Given the description of an element on the screen output the (x, y) to click on. 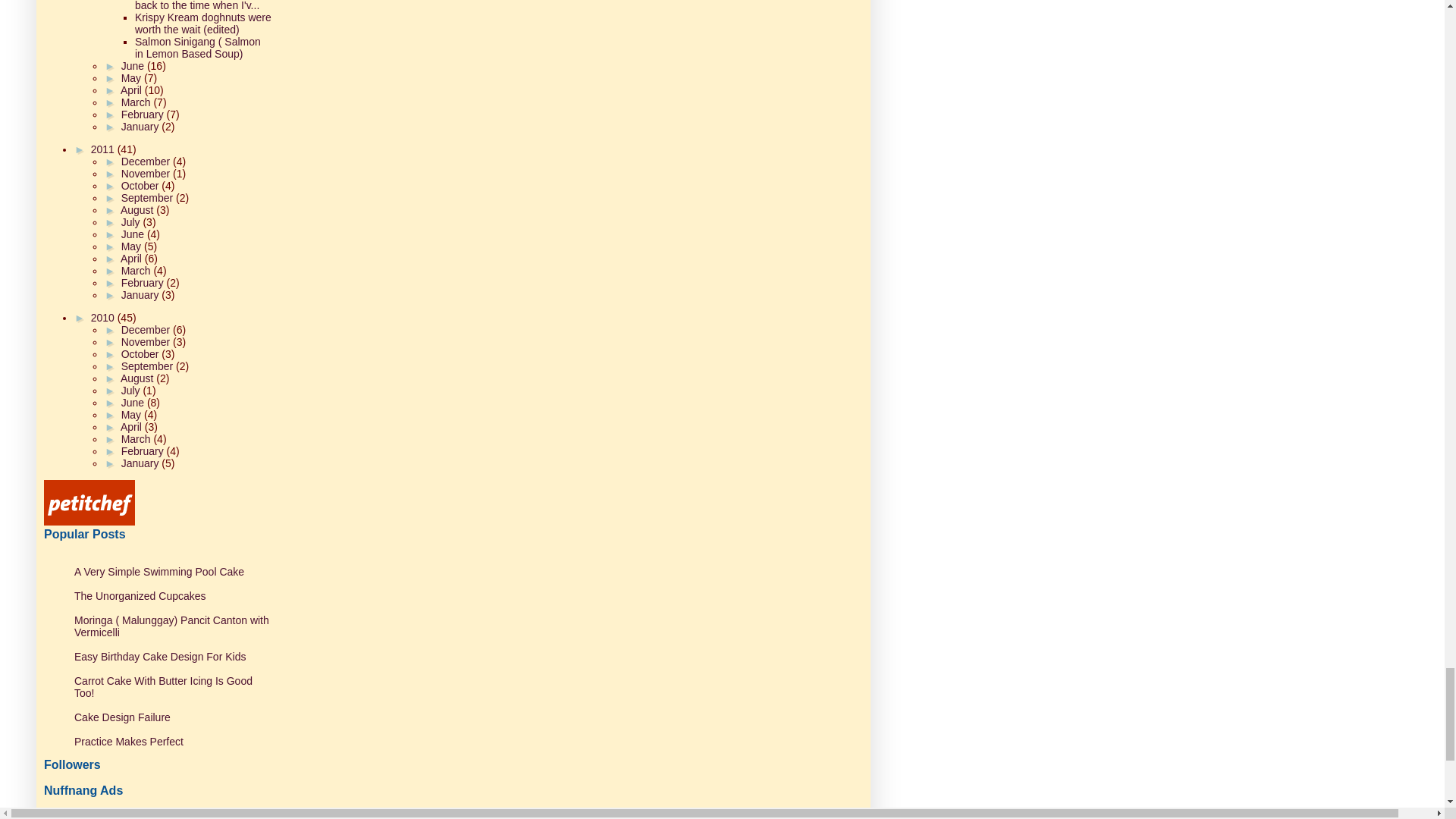
All recipes are on Petitchef (89, 521)
All recipes are on Petitchef (89, 502)
